Given the description of an element on the screen output the (x, y) to click on. 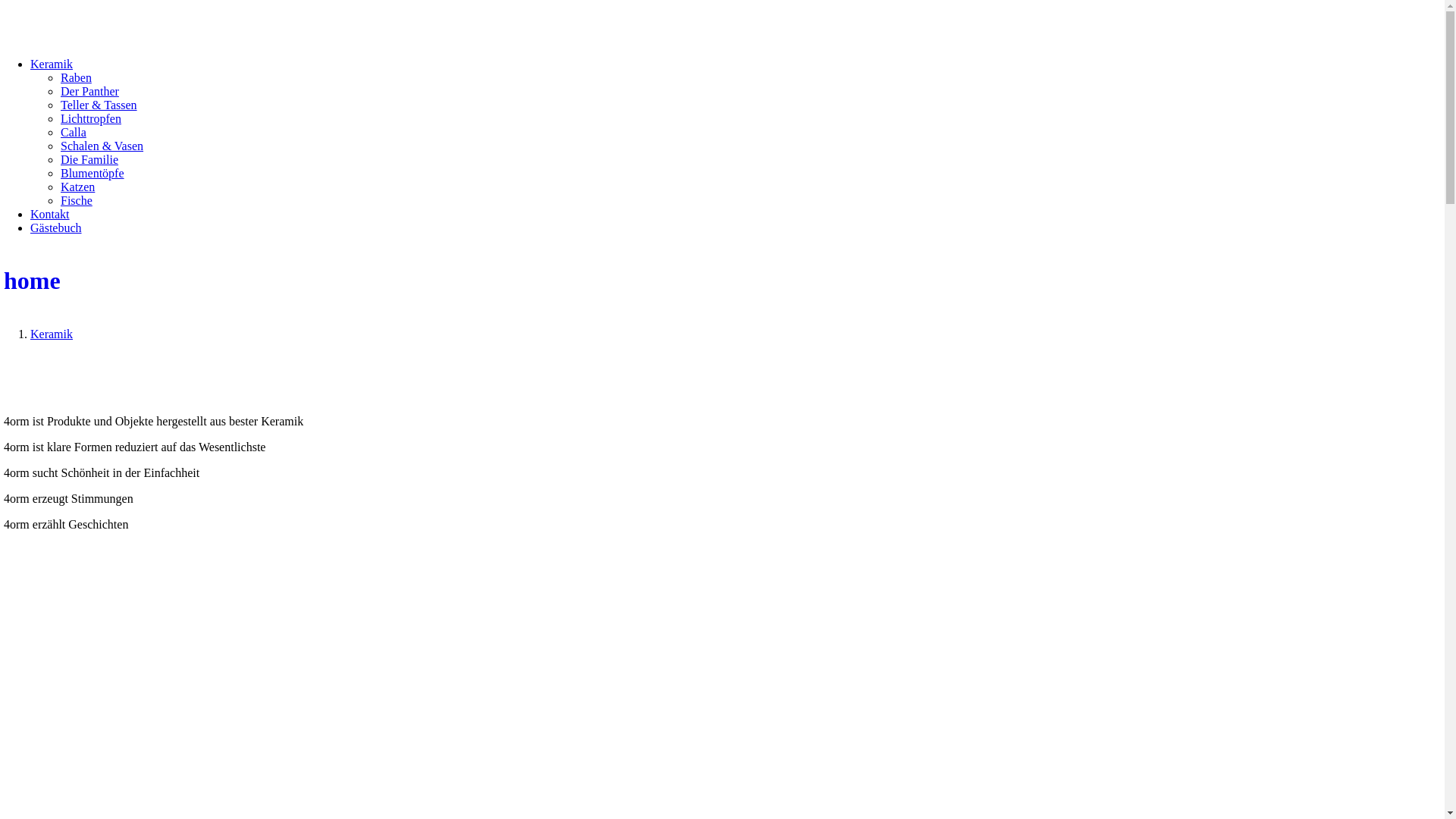
Kontakt Element type: text (49, 213)
Der Panther Element type: text (89, 90)
Calla Element type: text (73, 131)
home Element type: text (721, 280)
Raben Element type: text (75, 77)
Schalen & Vasen Element type: text (101, 145)
Keramik Element type: text (51, 63)
Keramik Element type: text (51, 333)
Teller & Tassen Element type: text (98, 104)
Lichttropfen Element type: text (90, 118)
Katzen Element type: text (77, 186)
Fische Element type: text (76, 200)
Die Familie Element type: text (89, 159)
